Given the description of an element on the screen output the (x, y) to click on. 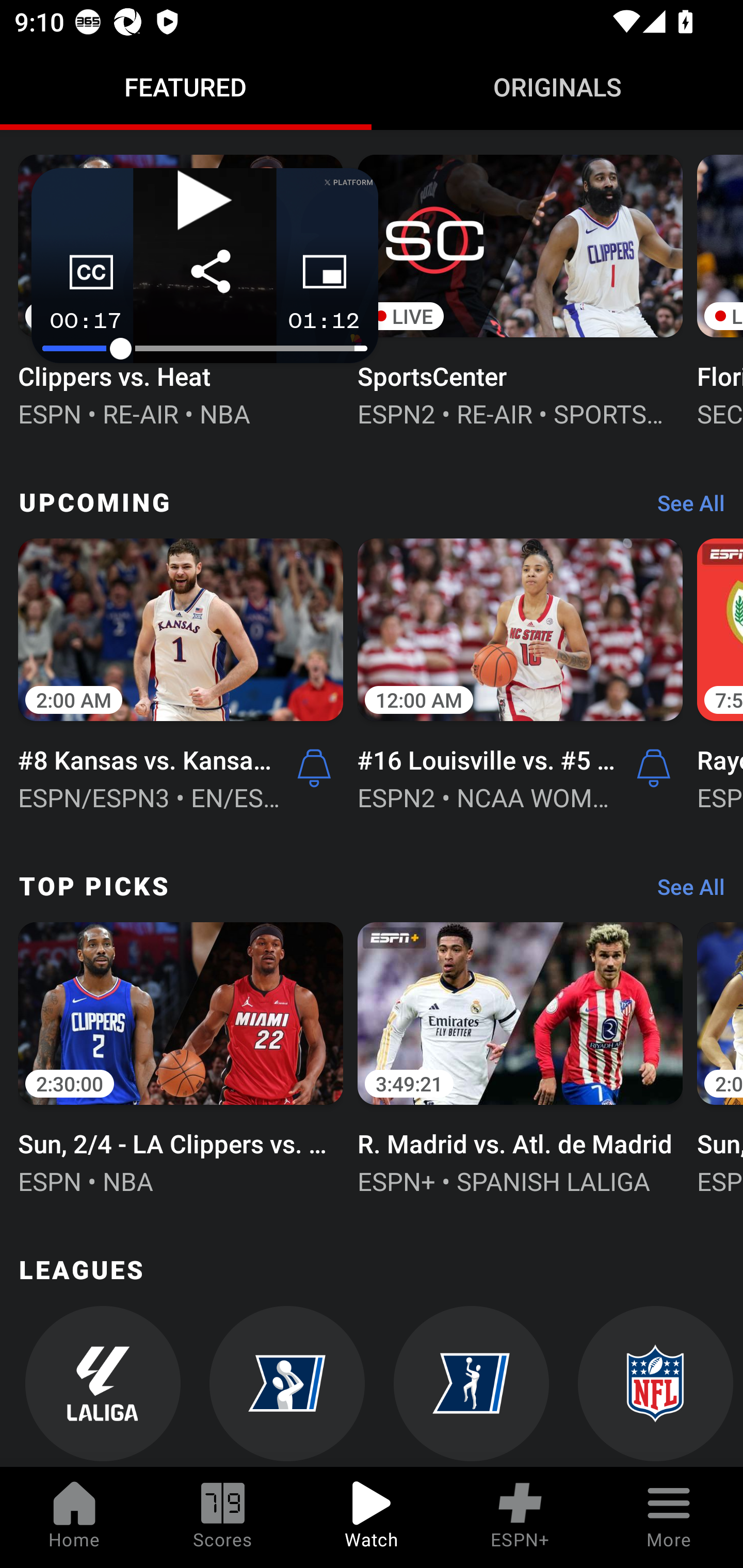
Originals ORIGINALS (557, 86)
LIVE Clippers vs. Heat ESPN • RE-AIR • NBA (180, 289)
LIVE SportsCenter ESPN2 • RE-AIR • SPORTSCENTER (519, 289)
See All (683, 507)
Alerts (314, 767)
Alerts (653, 767)
See All (683, 891)
NCAA Men's Basketball (286, 1386)
NCAA Women's Basketball (471, 1386)
Home (74, 1517)
Scores (222, 1517)
ESPN+ (519, 1517)
More (668, 1517)
